Given the description of an element on the screen output the (x, y) to click on. 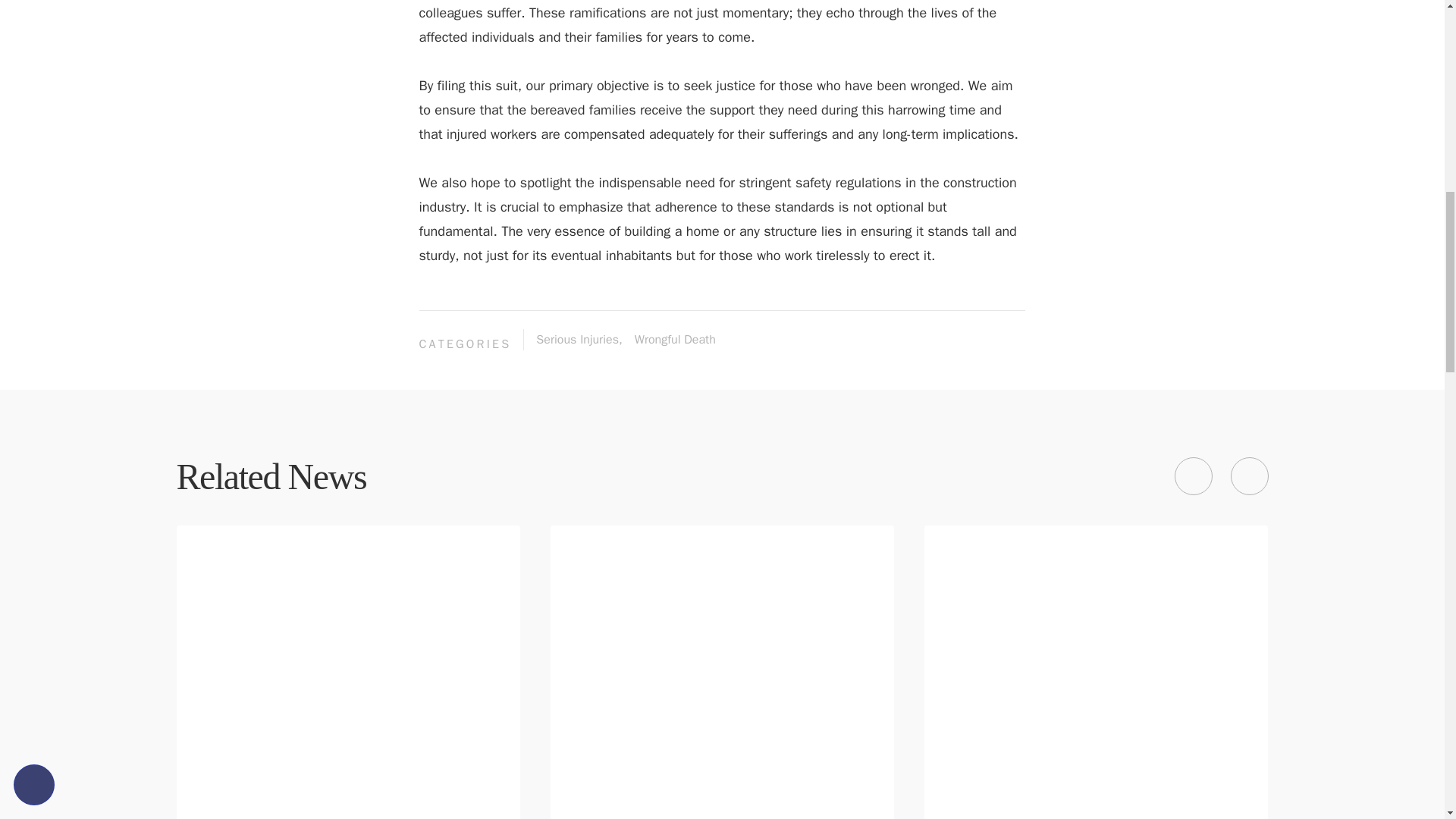
View previous item (1192, 476)
View next item (1249, 476)
